Given the description of an element on the screen output the (x, y) to click on. 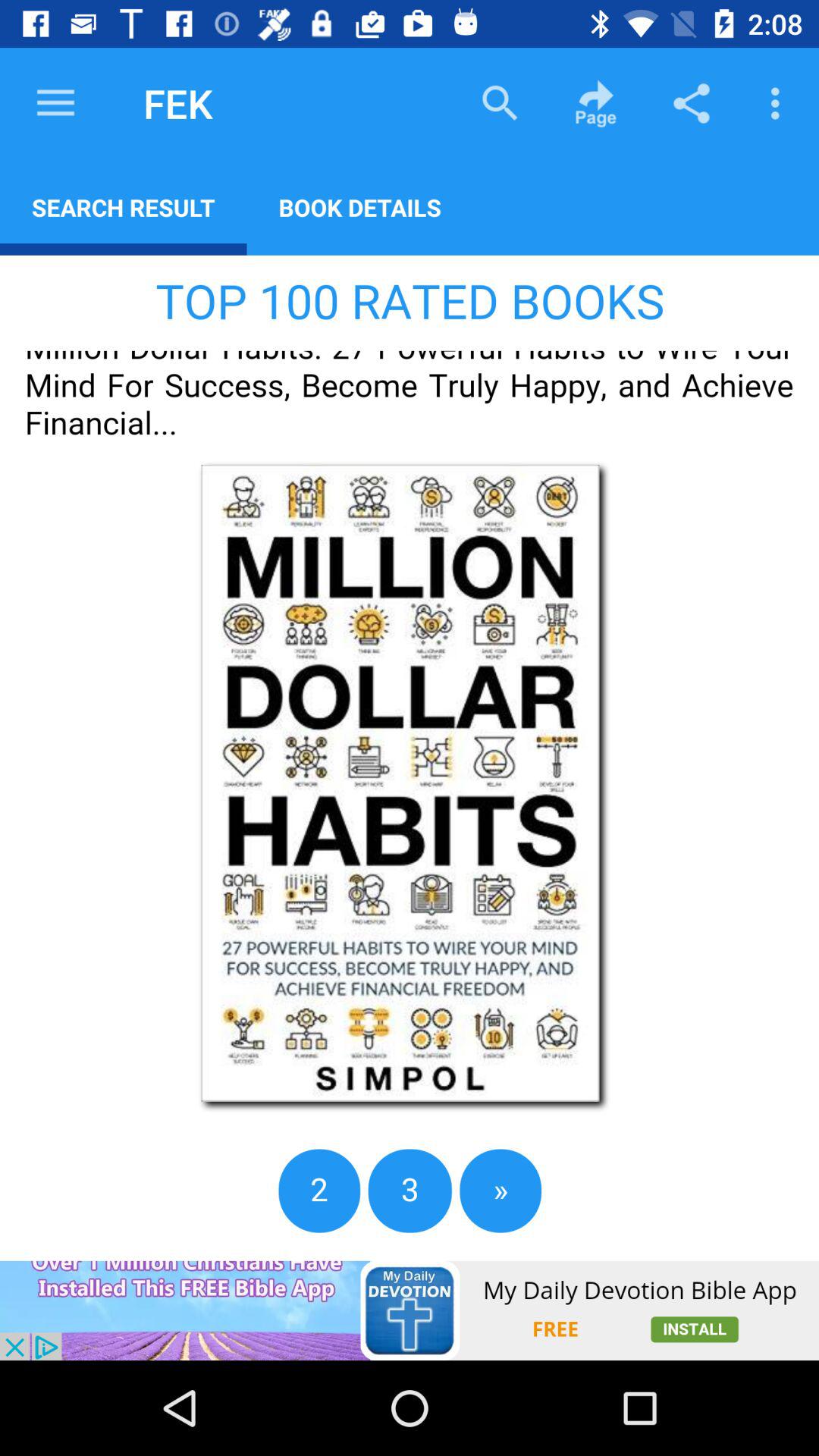
advertisement (409, 1310)
